Given the description of an element on the screen output the (x, y) to click on. 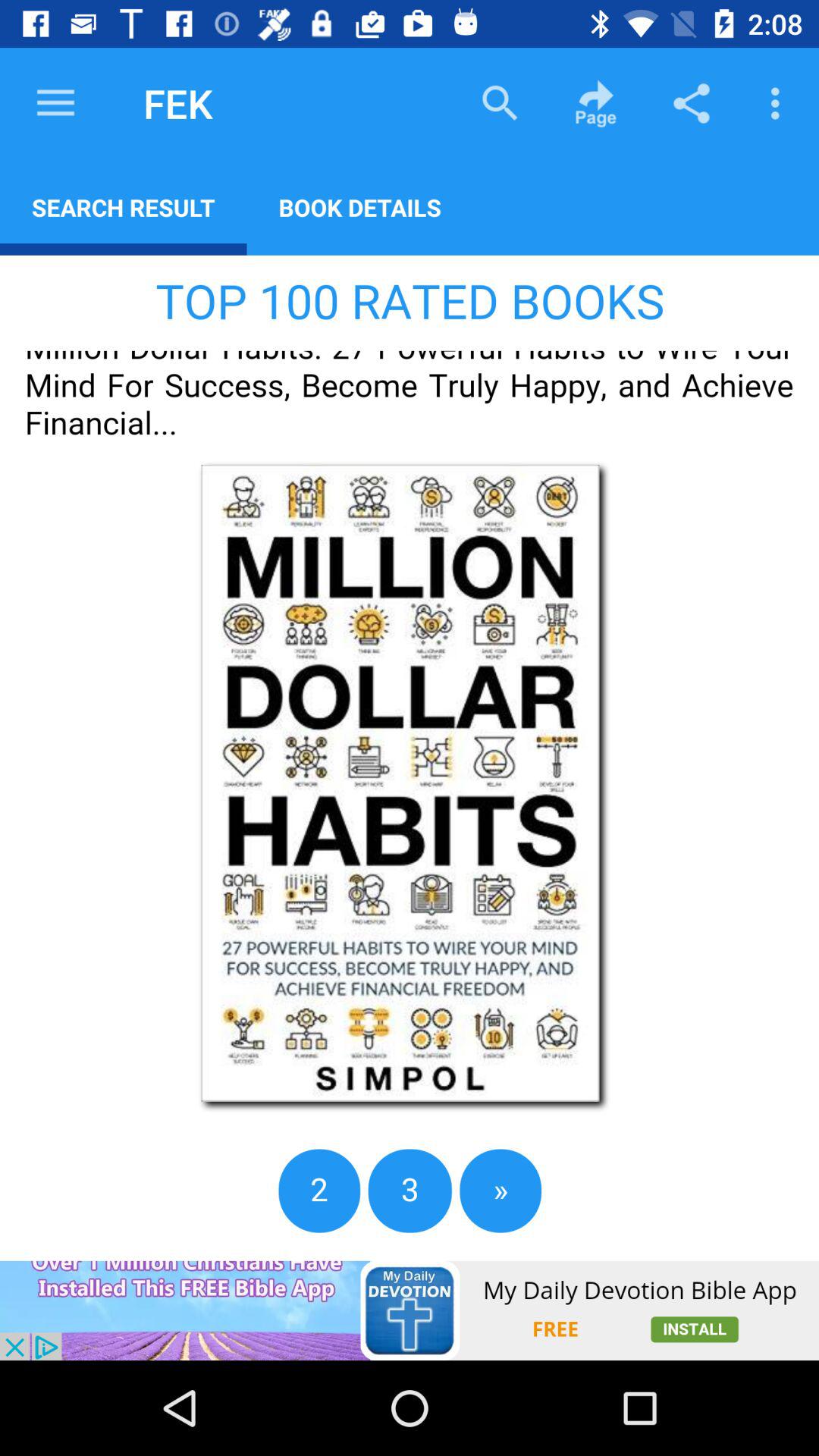
advertisement (409, 1310)
